Given the description of an element on the screen output the (x, y) to click on. 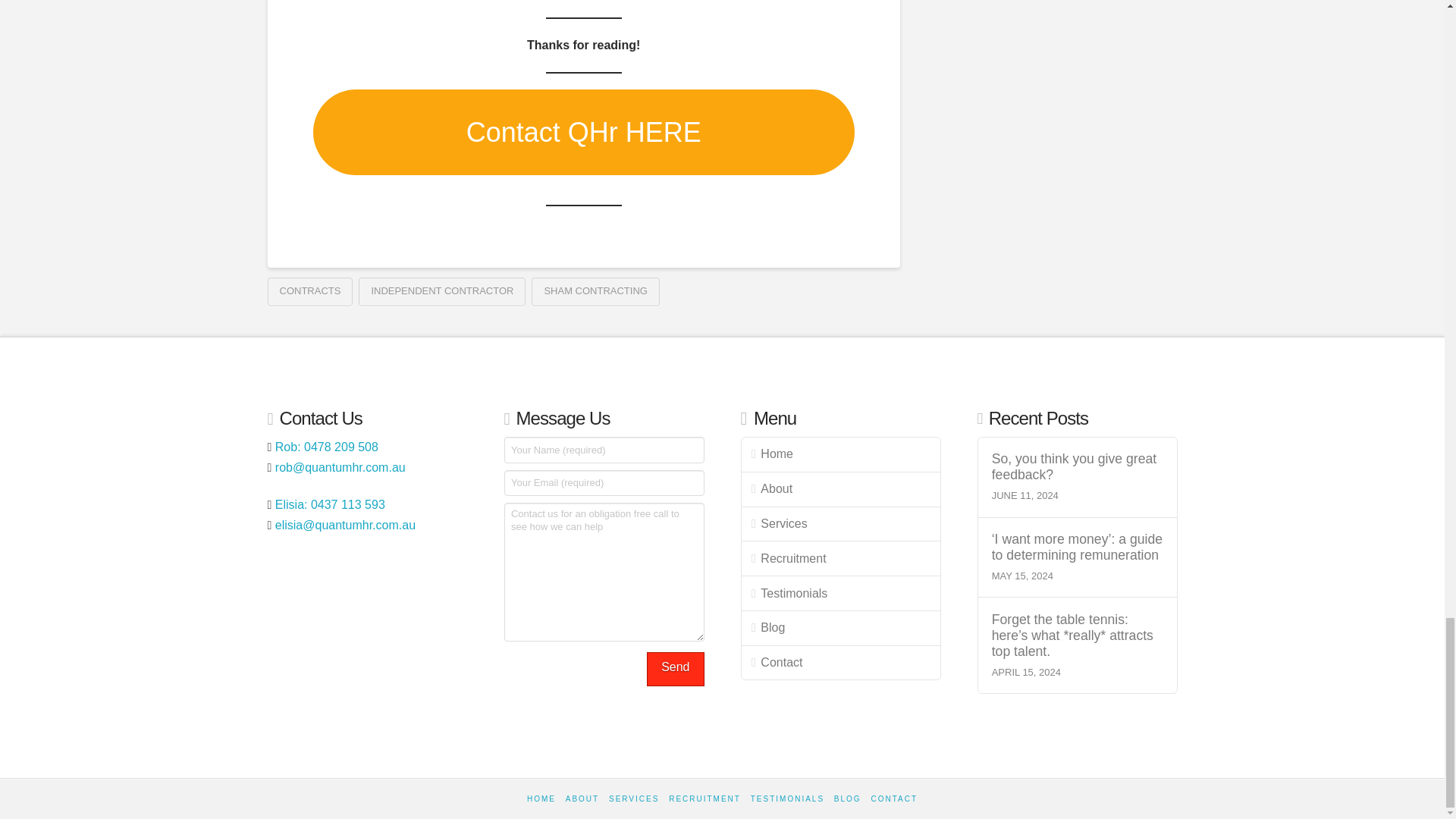
Elisia: 0437 113 593 (330, 504)
About (840, 489)
SHAM CONTRACTING (595, 291)
Contact QHr HERE (583, 132)
Home (840, 454)
Recruitment (840, 558)
INDEPENDENT CONTRACTOR (441, 291)
Testimonials (840, 593)
Send (674, 668)
Send (674, 668)
